Given the description of an element on the screen output the (x, y) to click on. 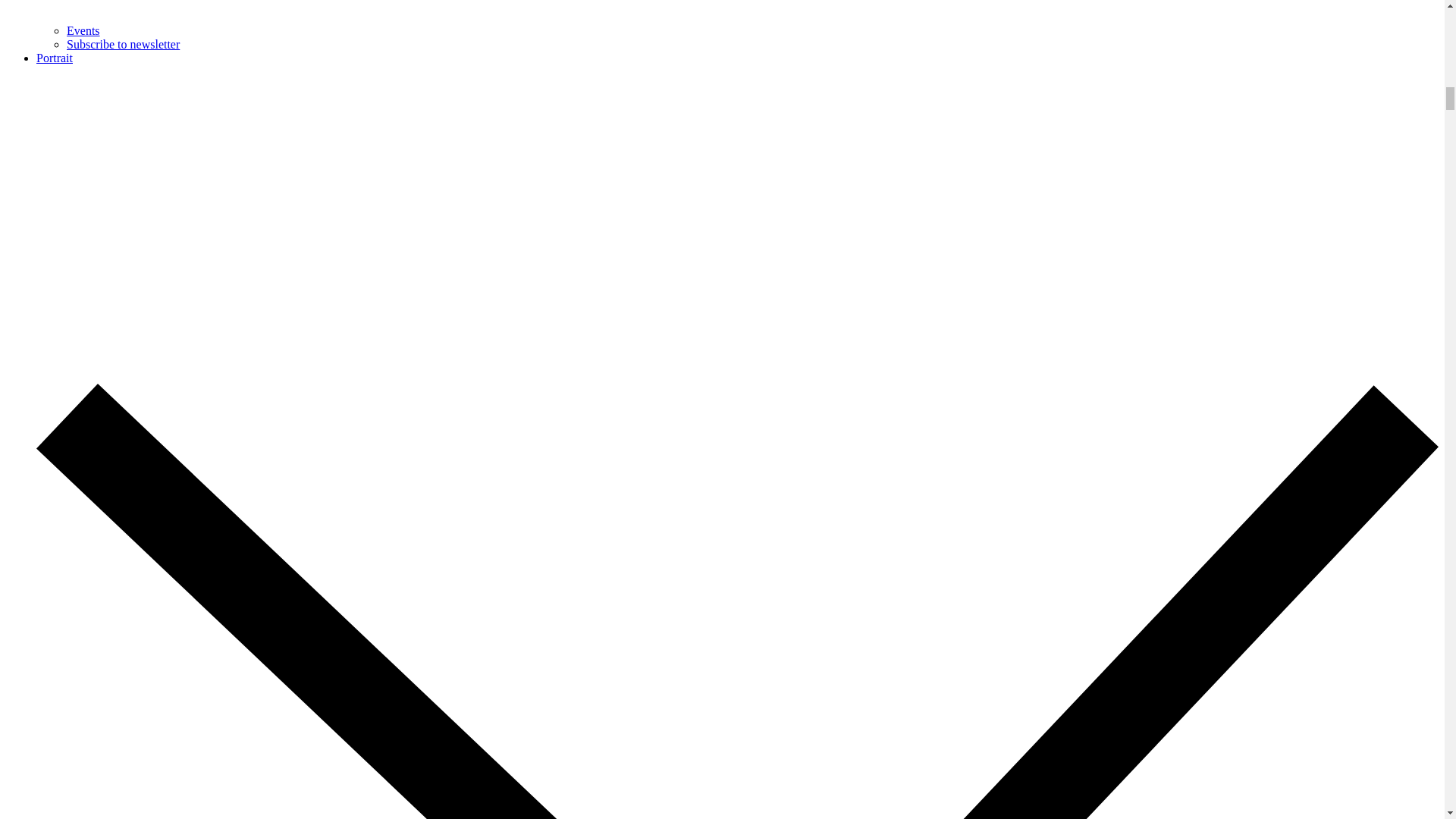
Events (83, 30)
Portrait (54, 57)
Subscribe to newsletter (122, 43)
